Given the description of an element on the screen output the (x, y) to click on. 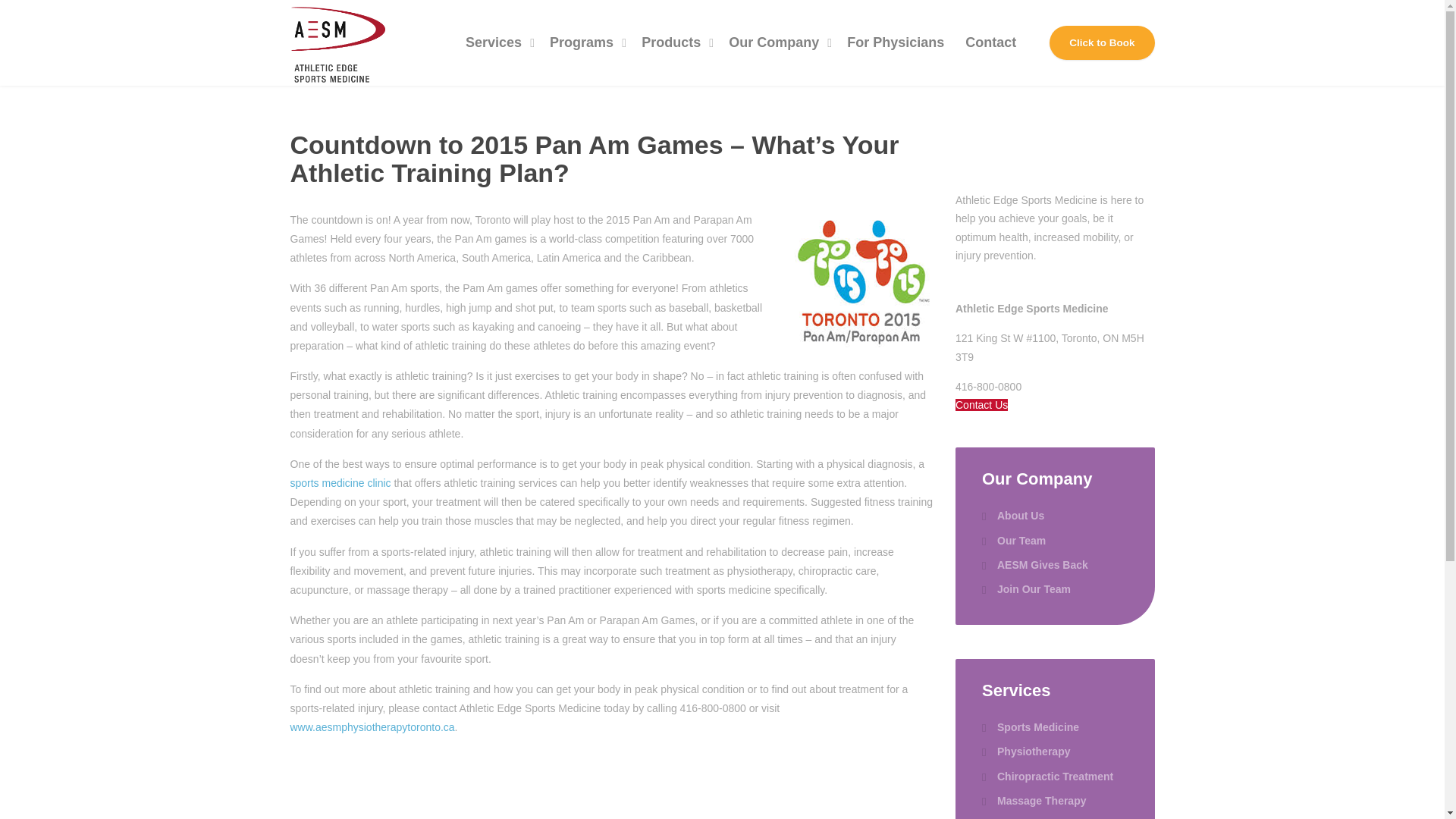
Products (673, 42)
Athletic Edge Sports Medicine (336, 42)
Services (496, 42)
Our Company (776, 42)
Athletic Training Procedure (861, 278)
Programs (584, 42)
